Given the description of an element on the screen output the (x, y) to click on. 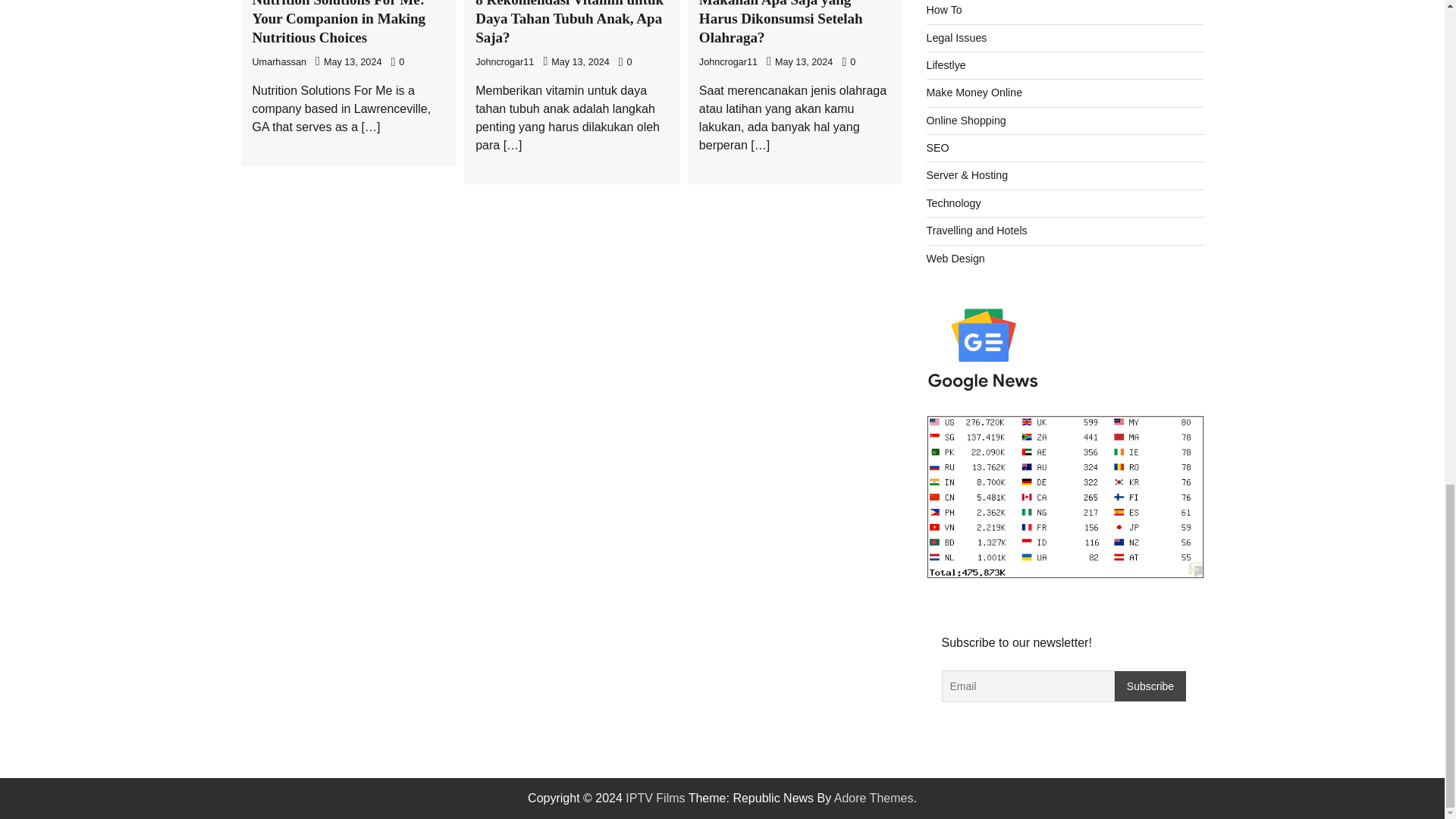
Subscribe (1150, 685)
Umarhassan (278, 61)
